Given the description of an element on the screen output the (x, y) to click on. 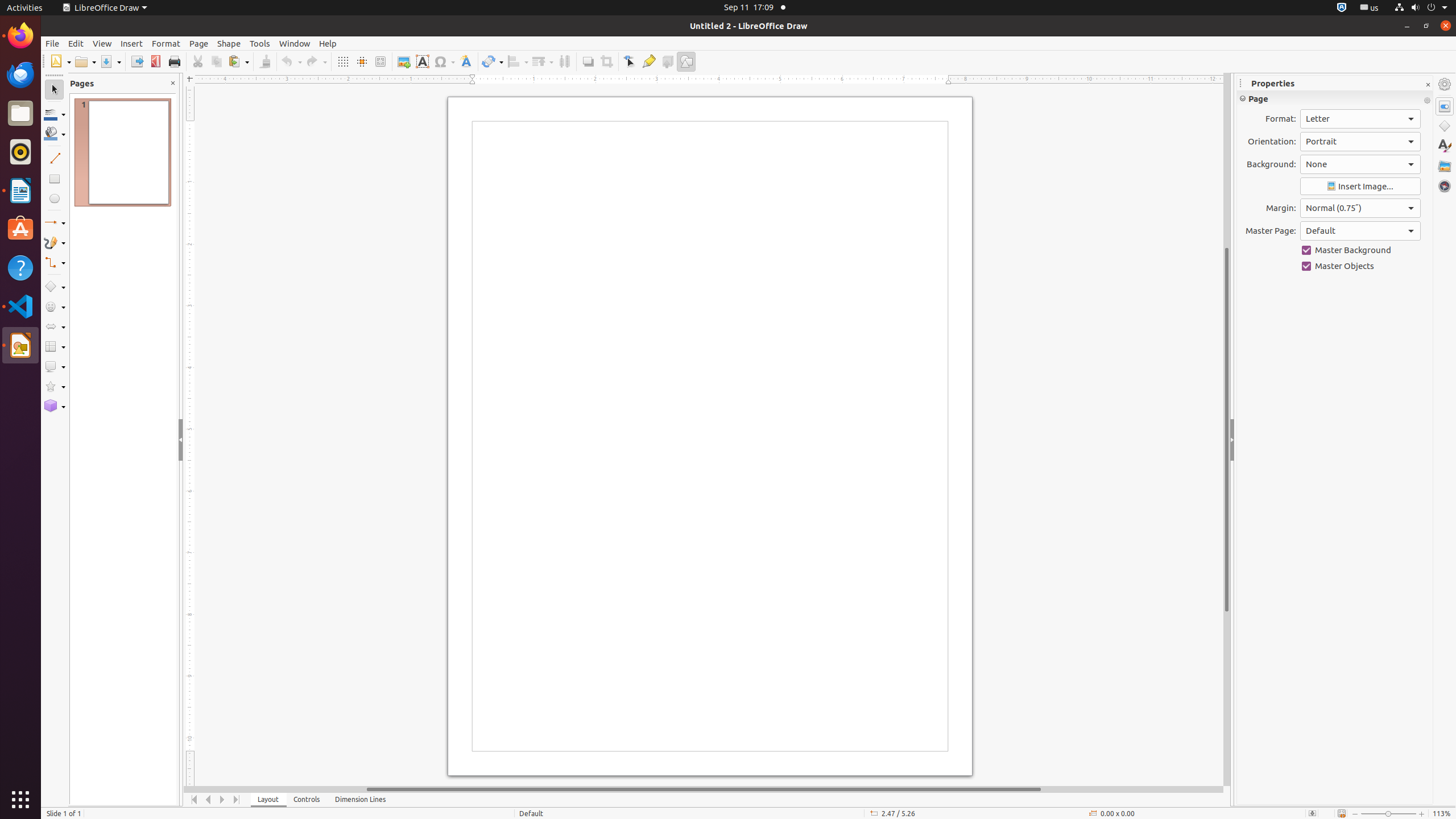
Draw Functions Element type: toggle-button (685, 61)
Rhythmbox Element type: push-button (20, 151)
LibreOffice Draw Element type: push-button (20, 344)
Master Objects Element type: check-box (1360, 265)
Undo Element type: push-button (290, 61)
